Given the description of an element on the screen output the (x, y) to click on. 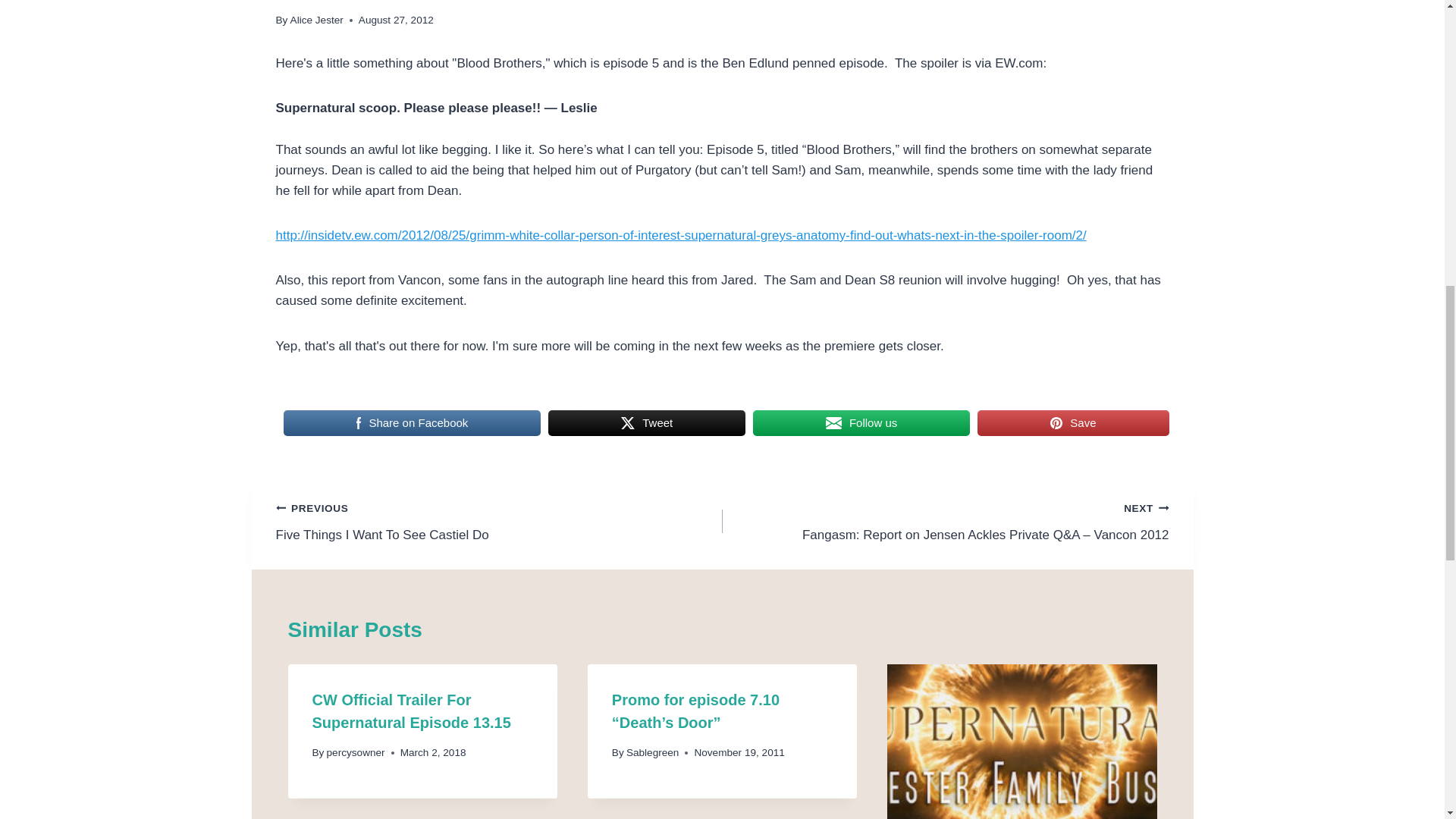
percysowner (355, 752)
Follow us (499, 521)
Alice Jester (860, 422)
CW Official Trailer For Supernatural Episode 13.15 (316, 19)
Save (412, 711)
Share on Facebook (1072, 422)
Tweet (412, 422)
